Given the description of an element on the screen output the (x, y) to click on. 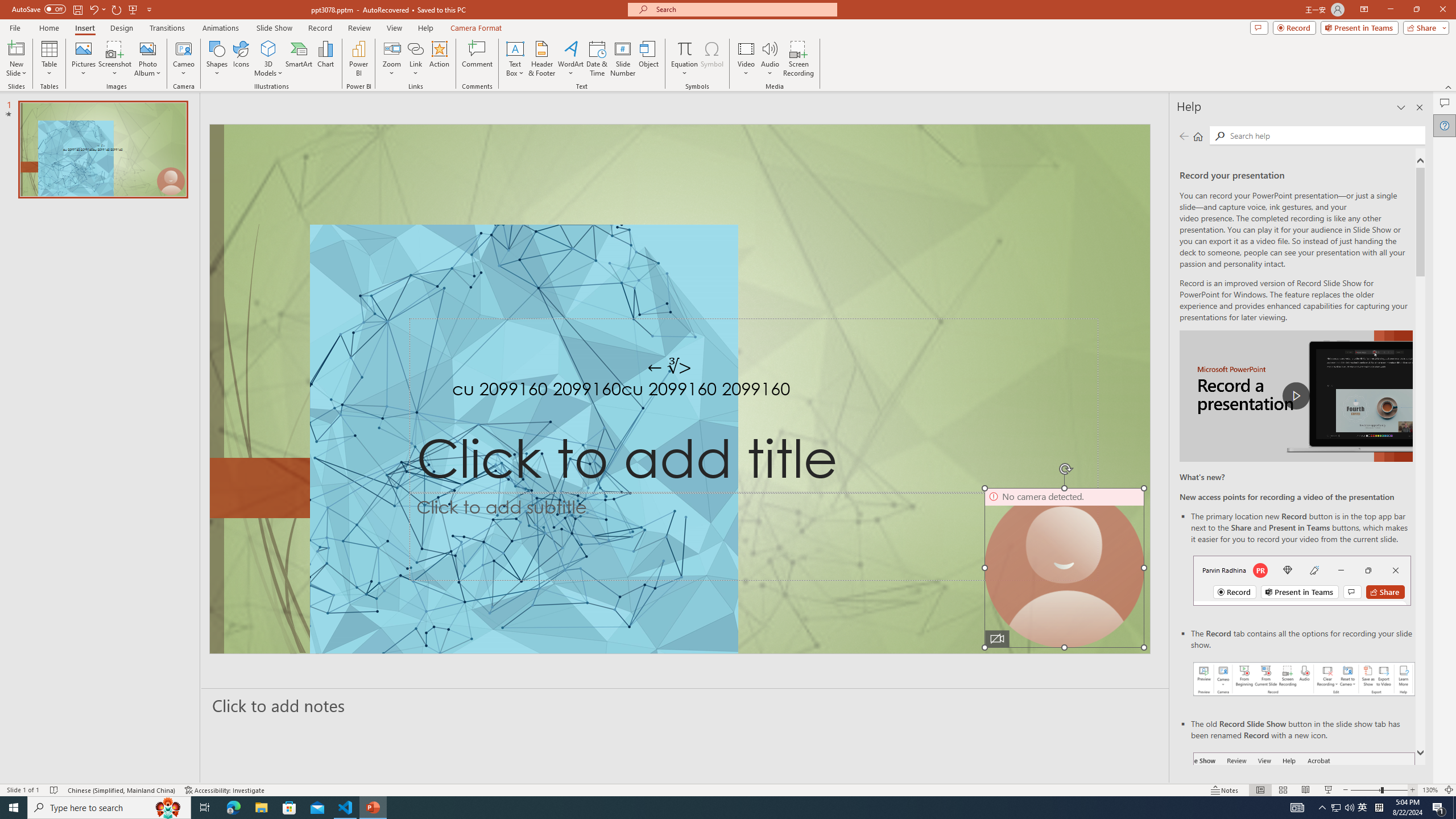
WordArt (570, 58)
3D Models (268, 58)
Icons (240, 58)
Previous page (1183, 136)
Screenshot (114, 58)
Pictures (83, 58)
Camera Format (475, 28)
Link (415, 58)
